Given the description of an element on the screen output the (x, y) to click on. 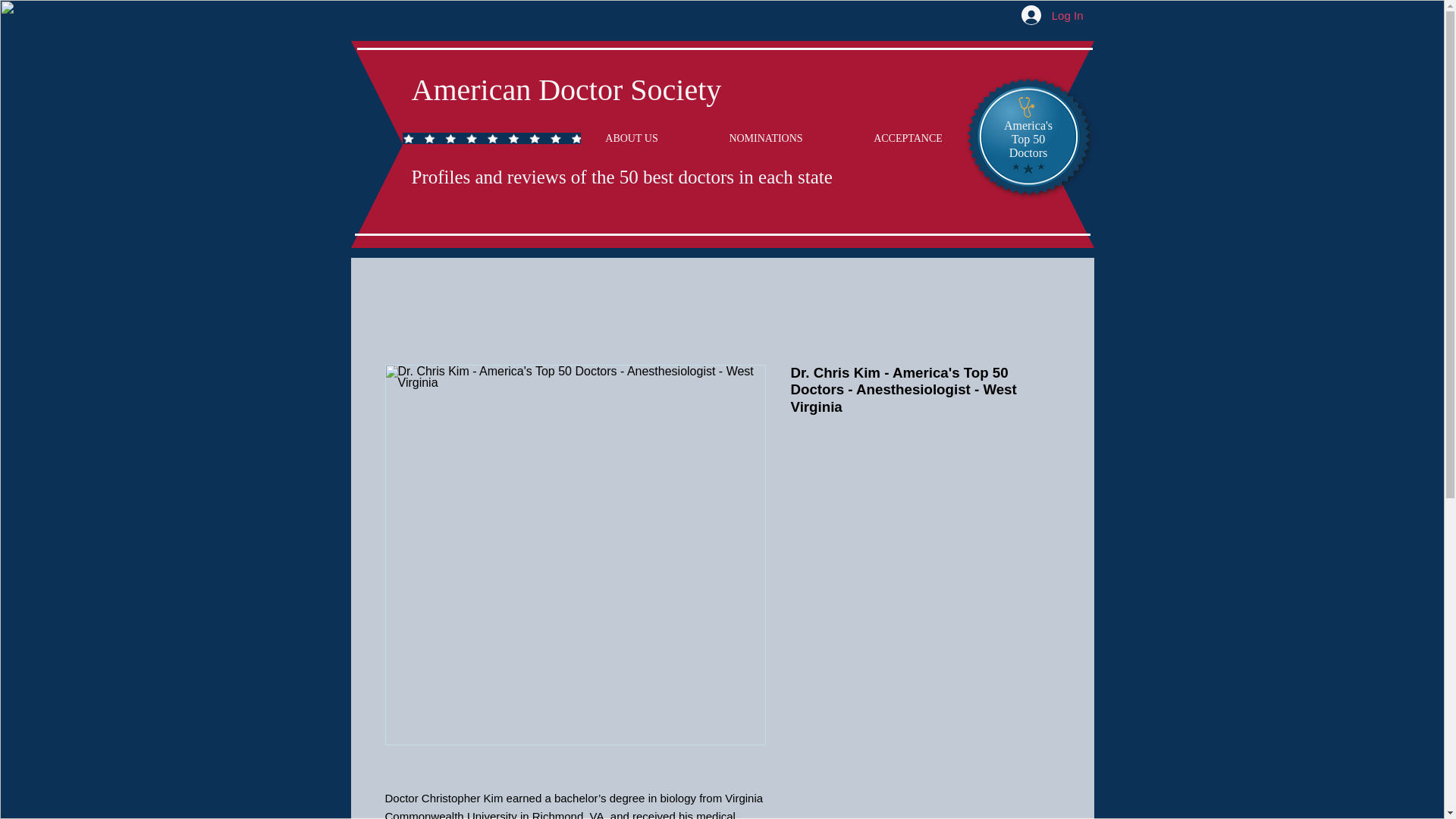
American Doctor Society (565, 89)
Log In (1052, 14)
ABOUT US (632, 138)
Profiles and reviews of the 50 best doctors in each state (620, 177)
NOMINATIONS (765, 138)
ACCEPTANCE (908, 138)
